Given the description of an element on the screen output the (x, y) to click on. 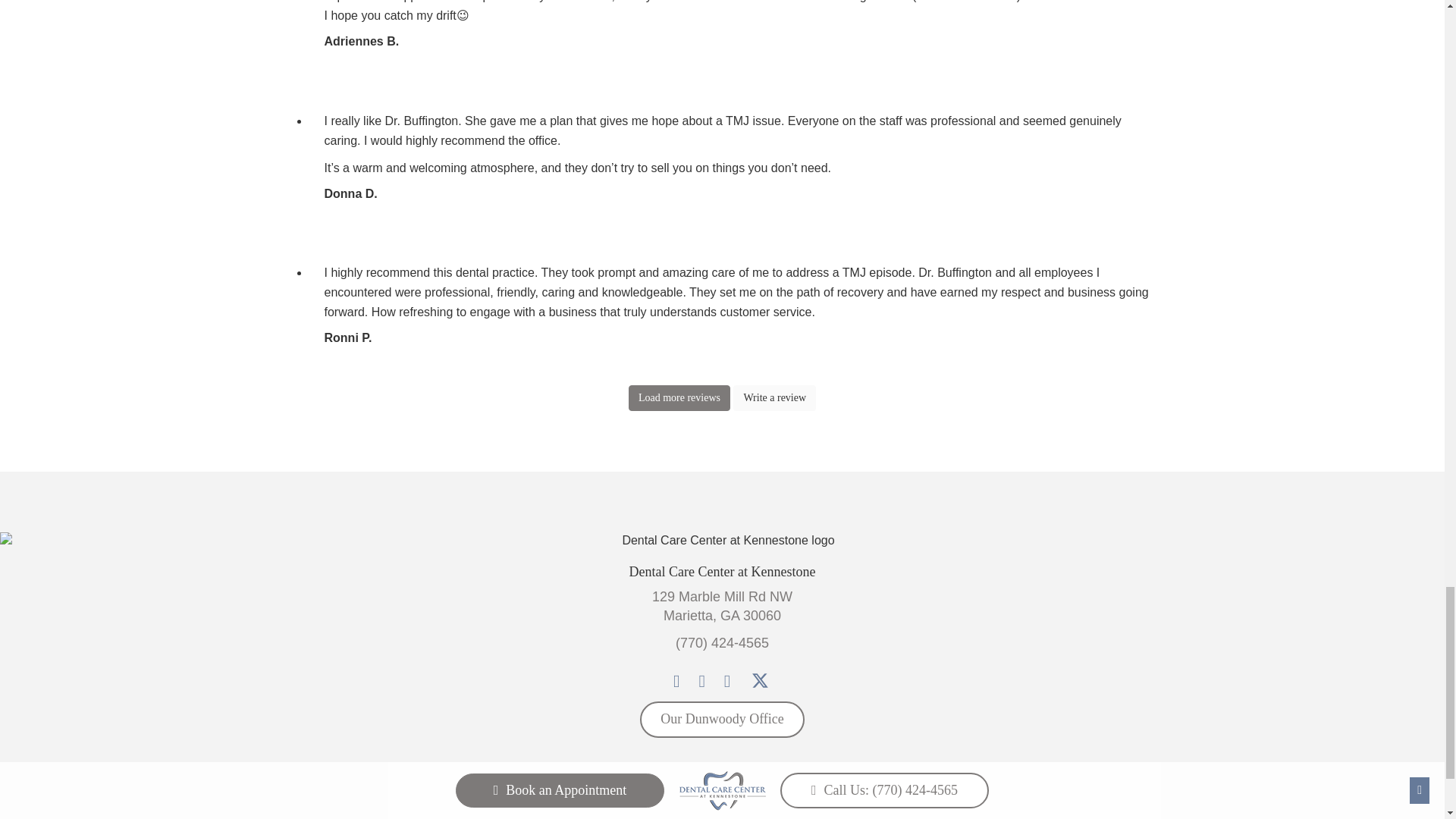
Get directions (722, 606)
